Given the description of an element on the screen output the (x, y) to click on. 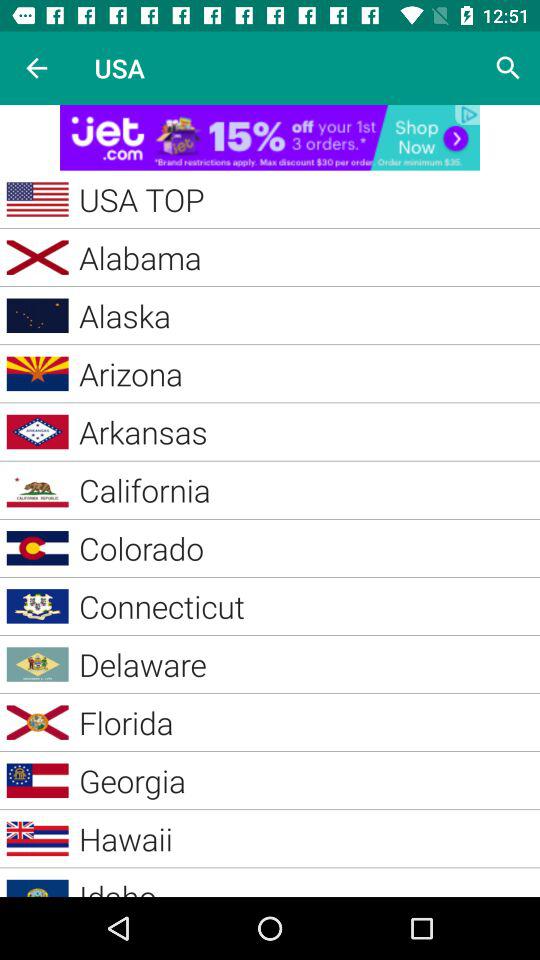
search page (508, 67)
